Given the description of an element on the screen output the (x, y) to click on. 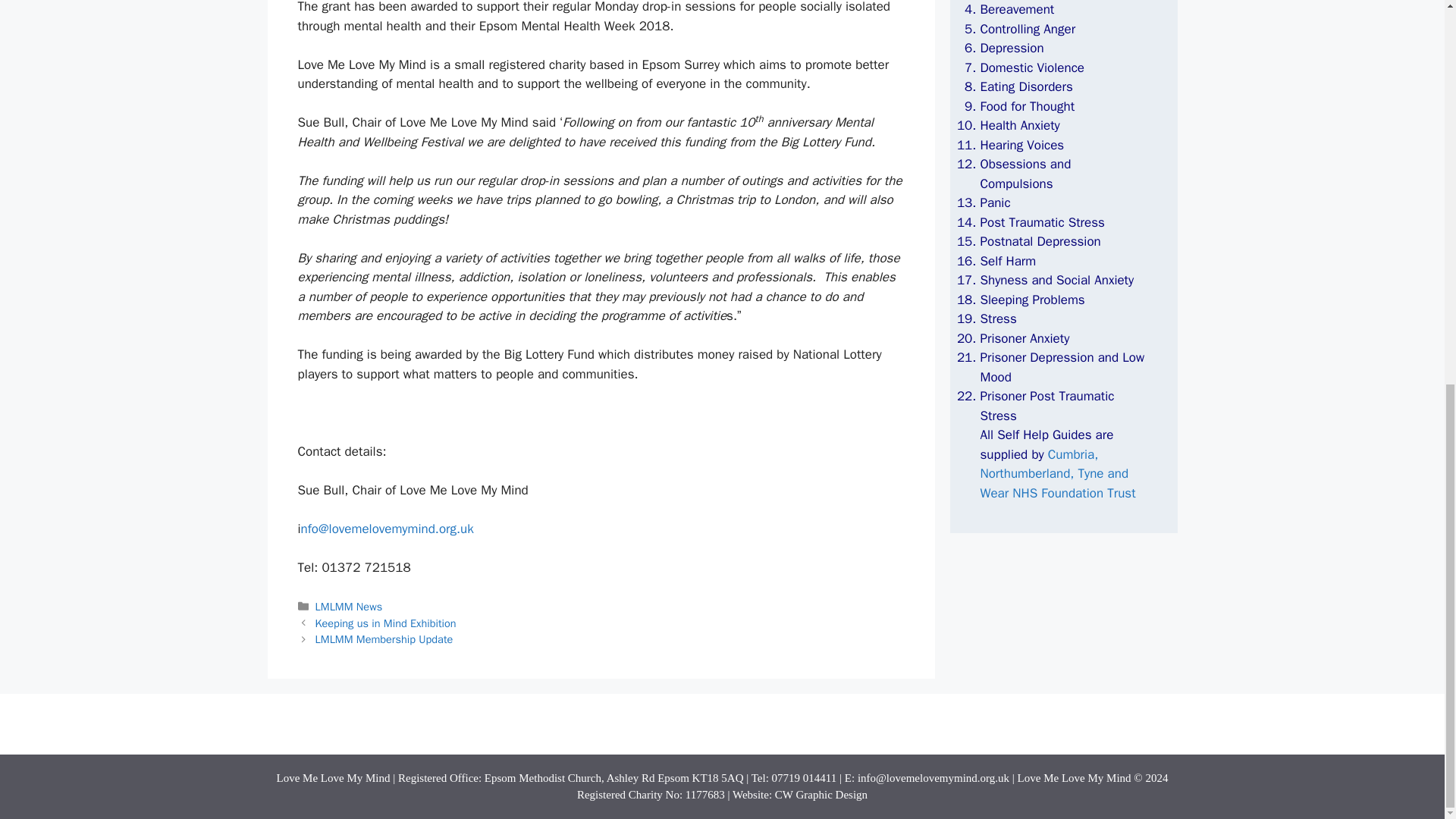
Keeping us in Mind Exhibition (386, 622)
LMLMM News (348, 606)
Cumbria, Northumberland, Tyne and Wear NHS Foundation Trust (1057, 473)
LMLMM Membership Update (383, 639)
